Given the description of an element on the screen output the (x, y) to click on. 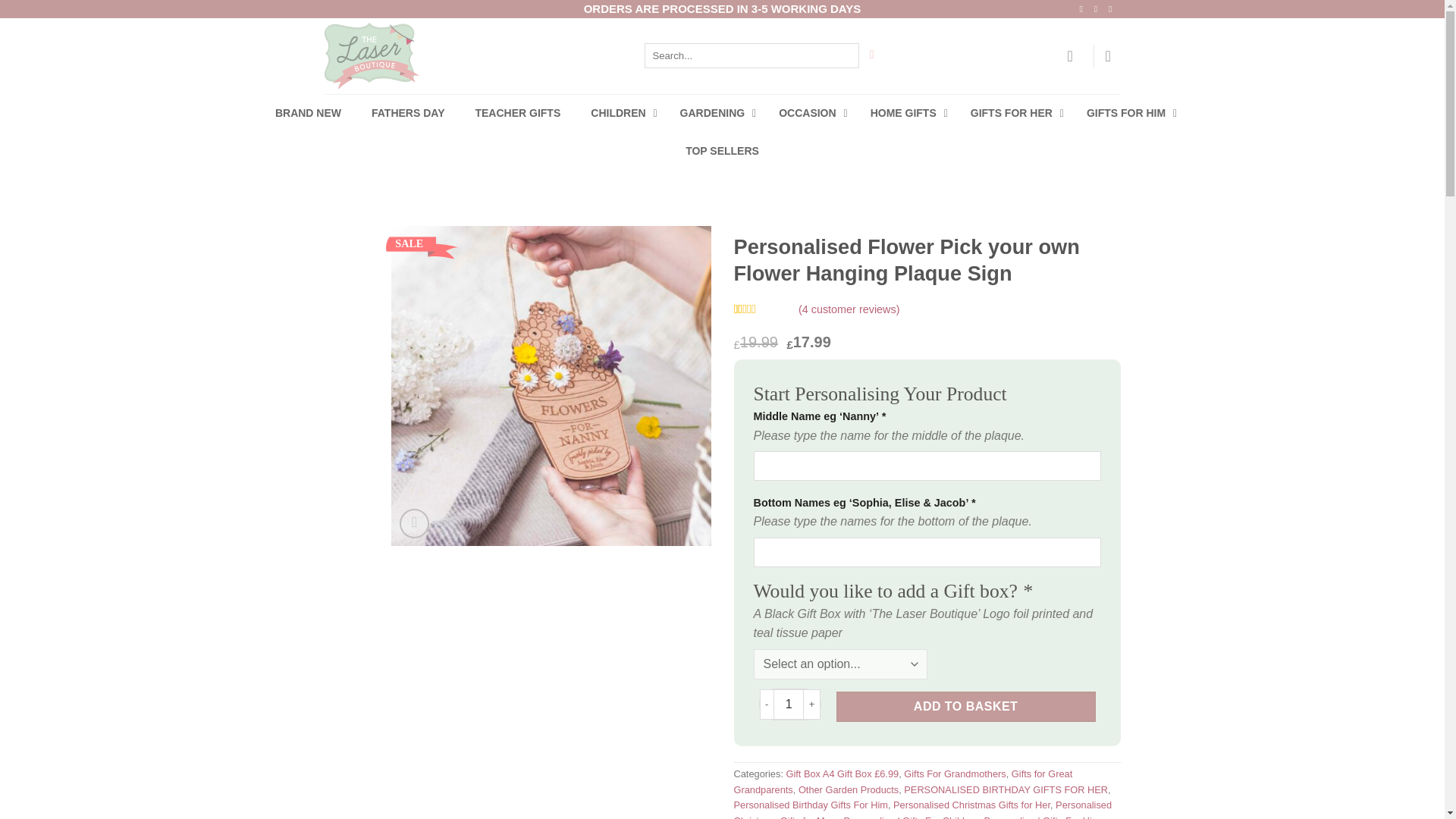
The Laser Boutique - Laser Engraved Gifts (438, 56)
CHILDREN (619, 112)
BRAND NEW (308, 112)
Zoom (413, 523)
TEACHER GIFTS (517, 112)
Search (871, 55)
OCCASION (808, 112)
GARDENING (714, 112)
1 (788, 704)
